Given the description of an element on the screen output the (x, y) to click on. 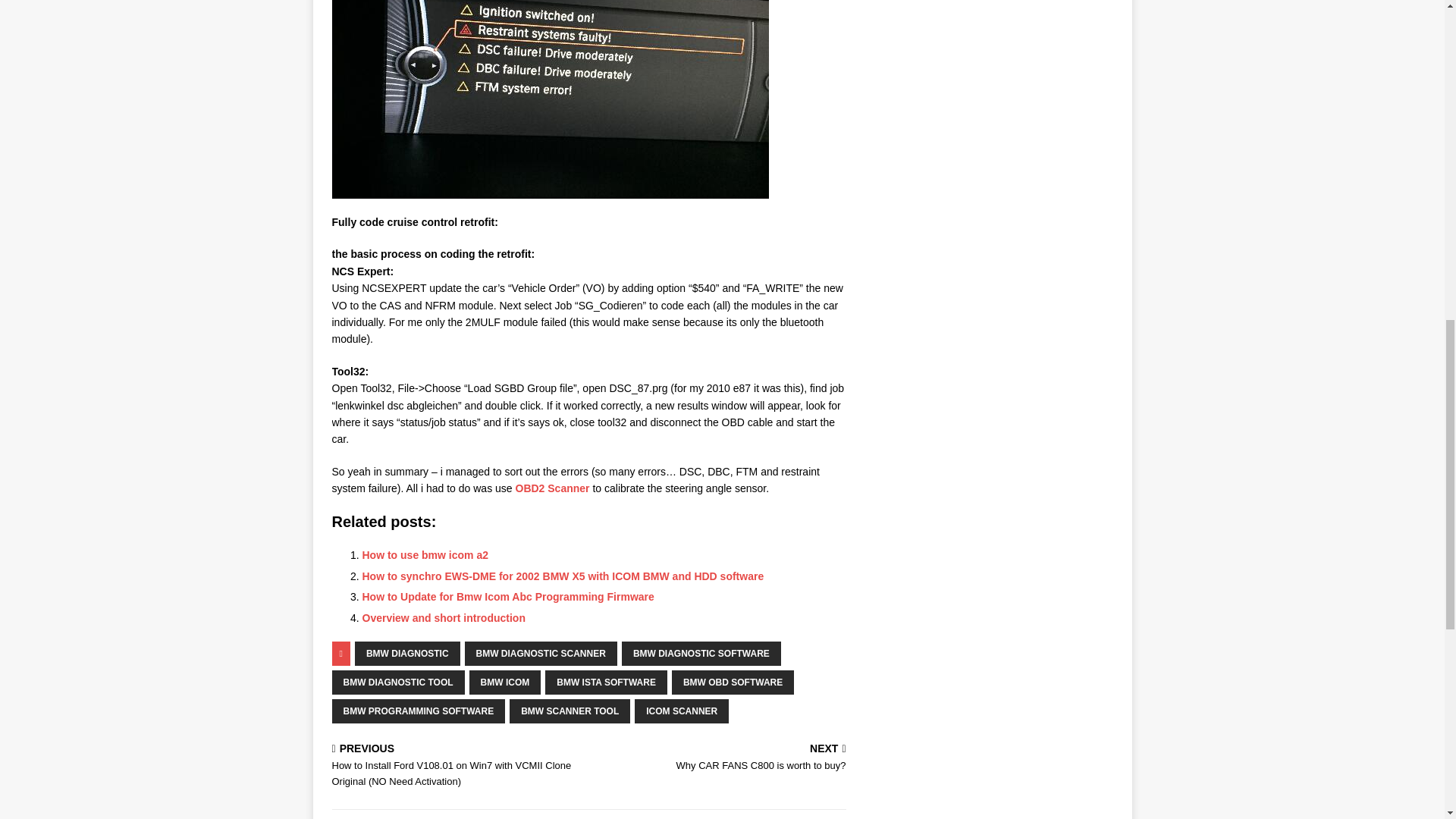
BMW DIAGNOSTIC SCANNER (540, 653)
ICOM SCANNER (681, 711)
How to use bmw icom a2 (424, 554)
BMW DIAGNOSTIC SOFTWARE (700, 653)
BMW SCANNER TOOL (569, 711)
How to Update for Bmw Icom Abc Programming Firmware (507, 596)
BMW ISTA SOFTWARE (605, 682)
BMW ICOM (504, 682)
BMW OBD SOFTWARE (720, 757)
BMW DIAGNOSTIC (732, 682)
Overview and short introduction (407, 653)
BMW PROGRAMMING SOFTWARE (443, 617)
